Given the description of an element on the screen output the (x, y) to click on. 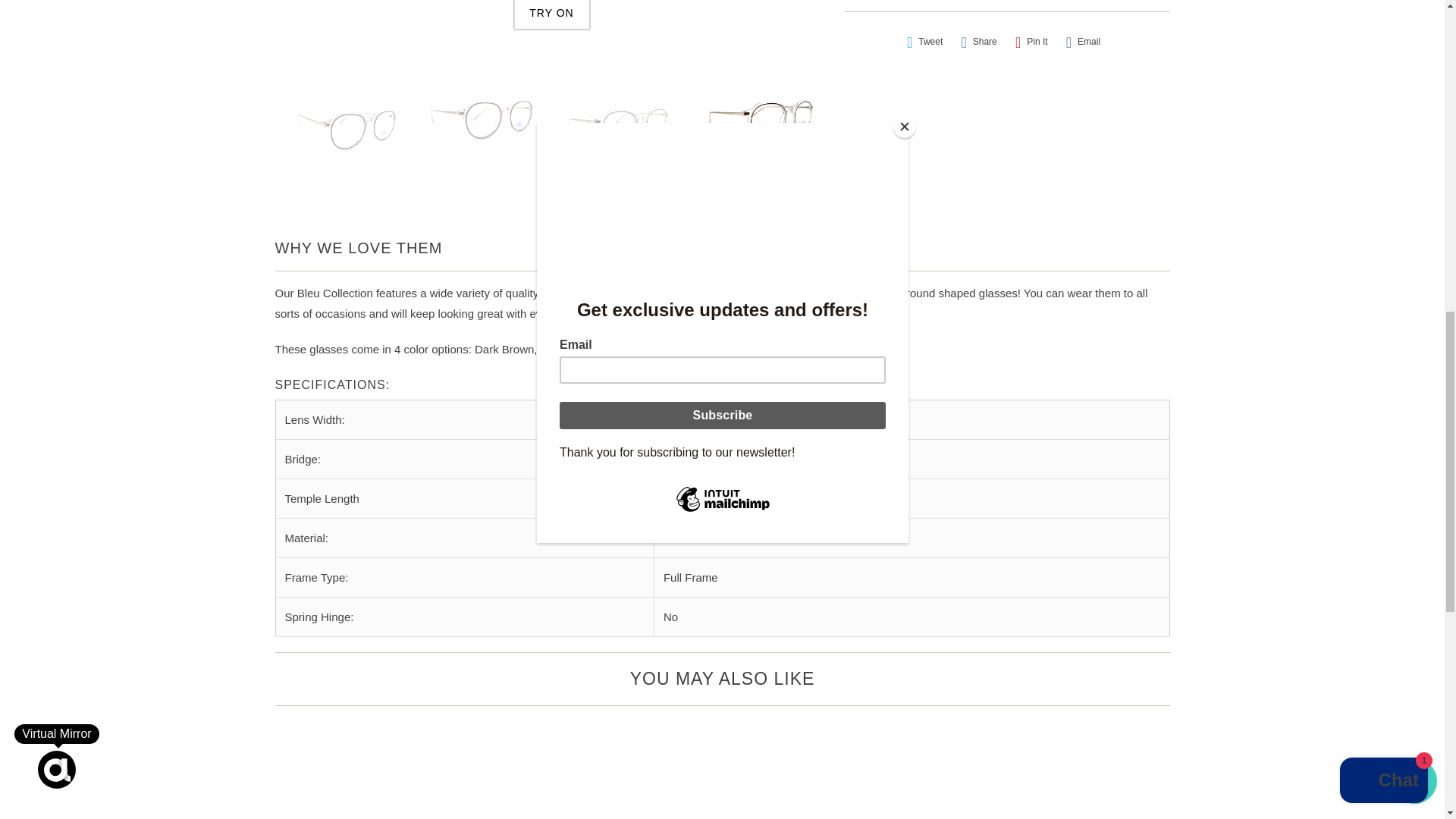
Bleu 8082 (552, 15)
Share this on Facebook (978, 41)
Email this to a friend (1083, 41)
TRY ON (550, 15)
Share this on Pinterest (1031, 41)
Share this on Twitter (924, 41)
